Given the description of an element on the screen output the (x, y) to click on. 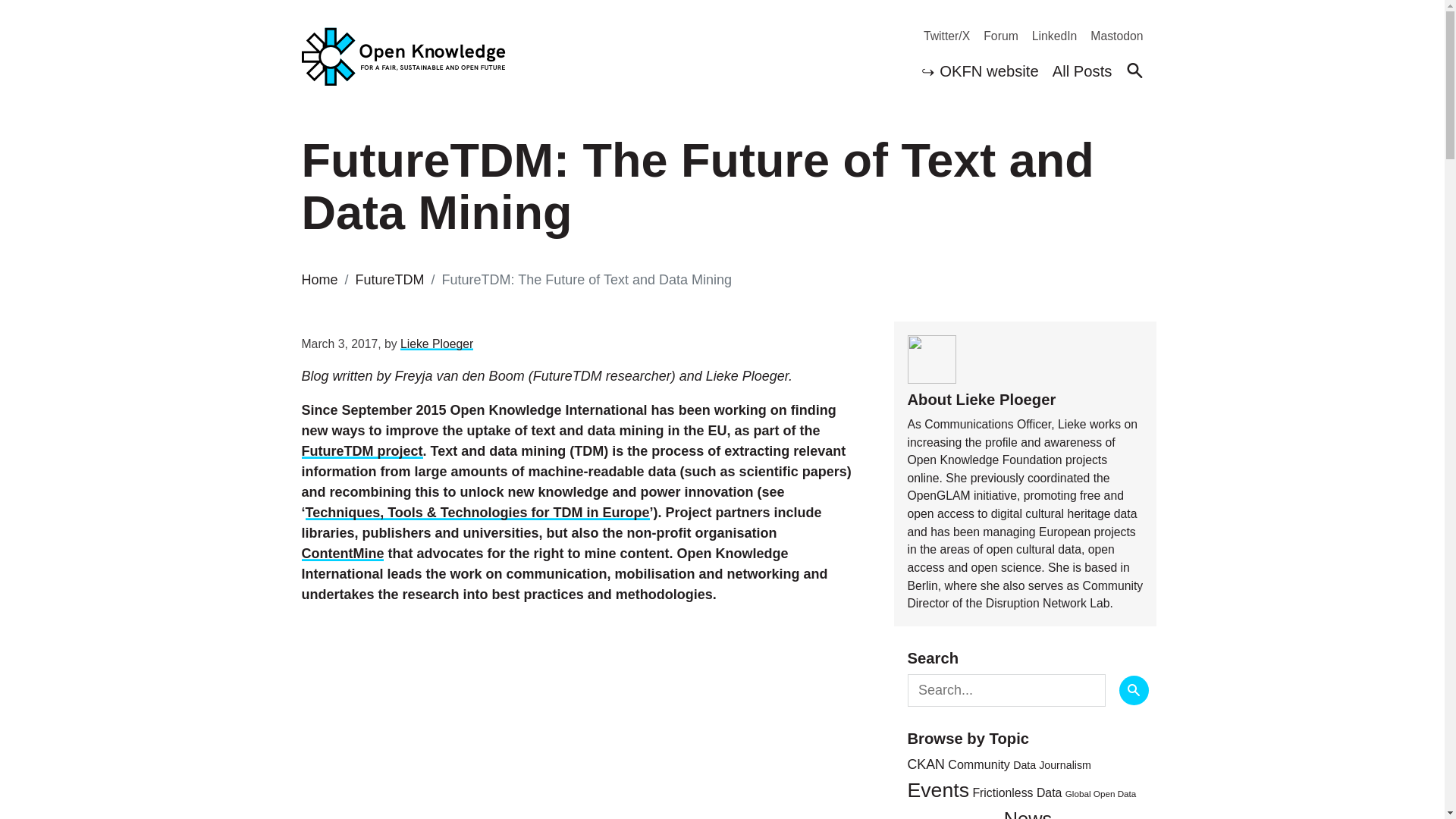
FutureTDM project (362, 450)
LinkedIn (1047, 36)
Posts by Lieke Ploeger (436, 343)
Mastodon (1109, 36)
ContentMine (342, 553)
Lieke Ploeger (436, 343)
Forum (993, 36)
All Posts (1082, 72)
Home (319, 279)
FutureTDM (390, 279)
